Given the description of an element on the screen output the (x, y) to click on. 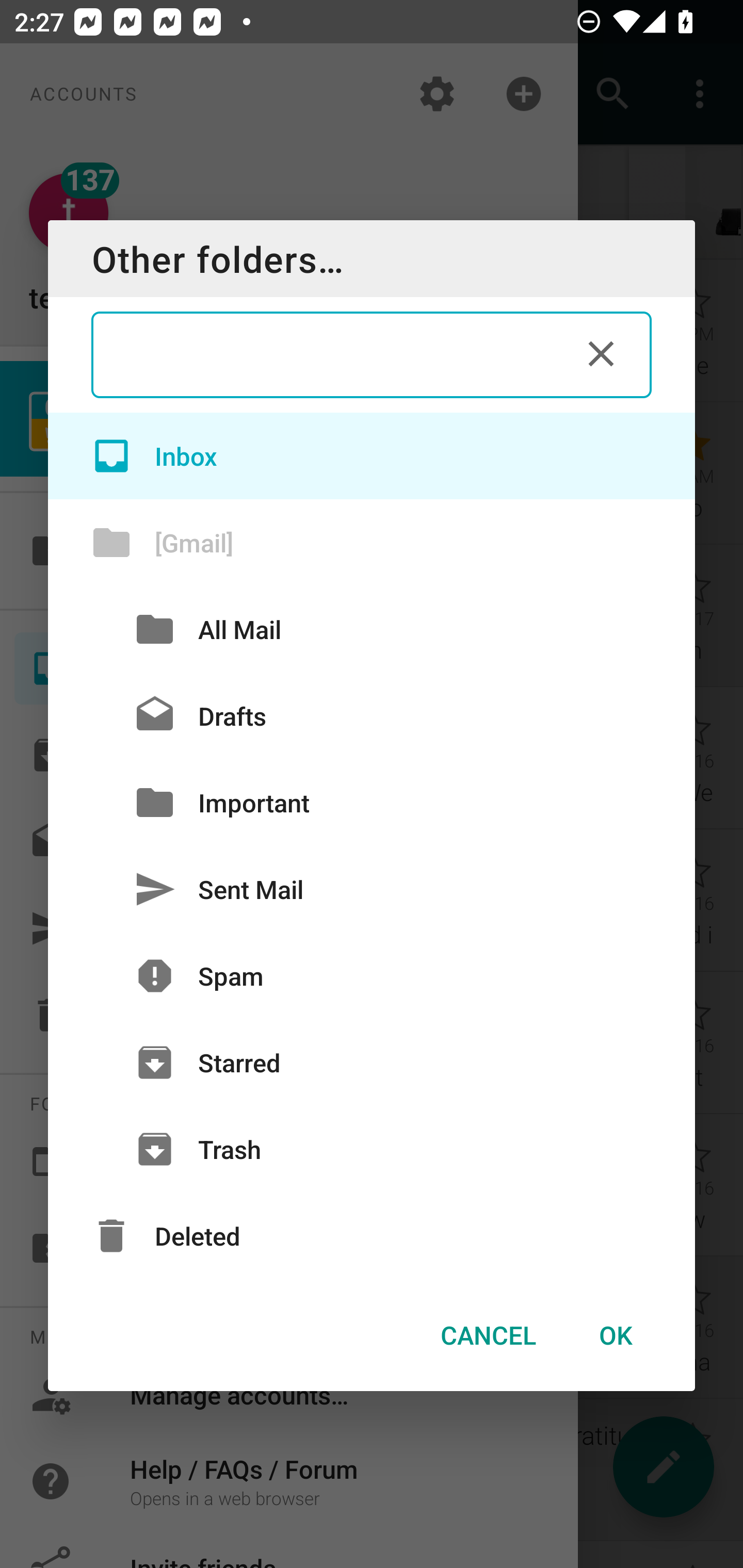
Cancel (600, 353)
Inbox (371, 455)
All Mail (371, 629)
Drafts (371, 715)
Important (371, 801)
Sent Mail (371, 888)
Spam (371, 975)
Starred (371, 1062)
Trash (371, 1149)
Deleted (371, 1236)
CANCEL (488, 1334)
OK (615, 1334)
